Given the description of an element on the screen output the (x, y) to click on. 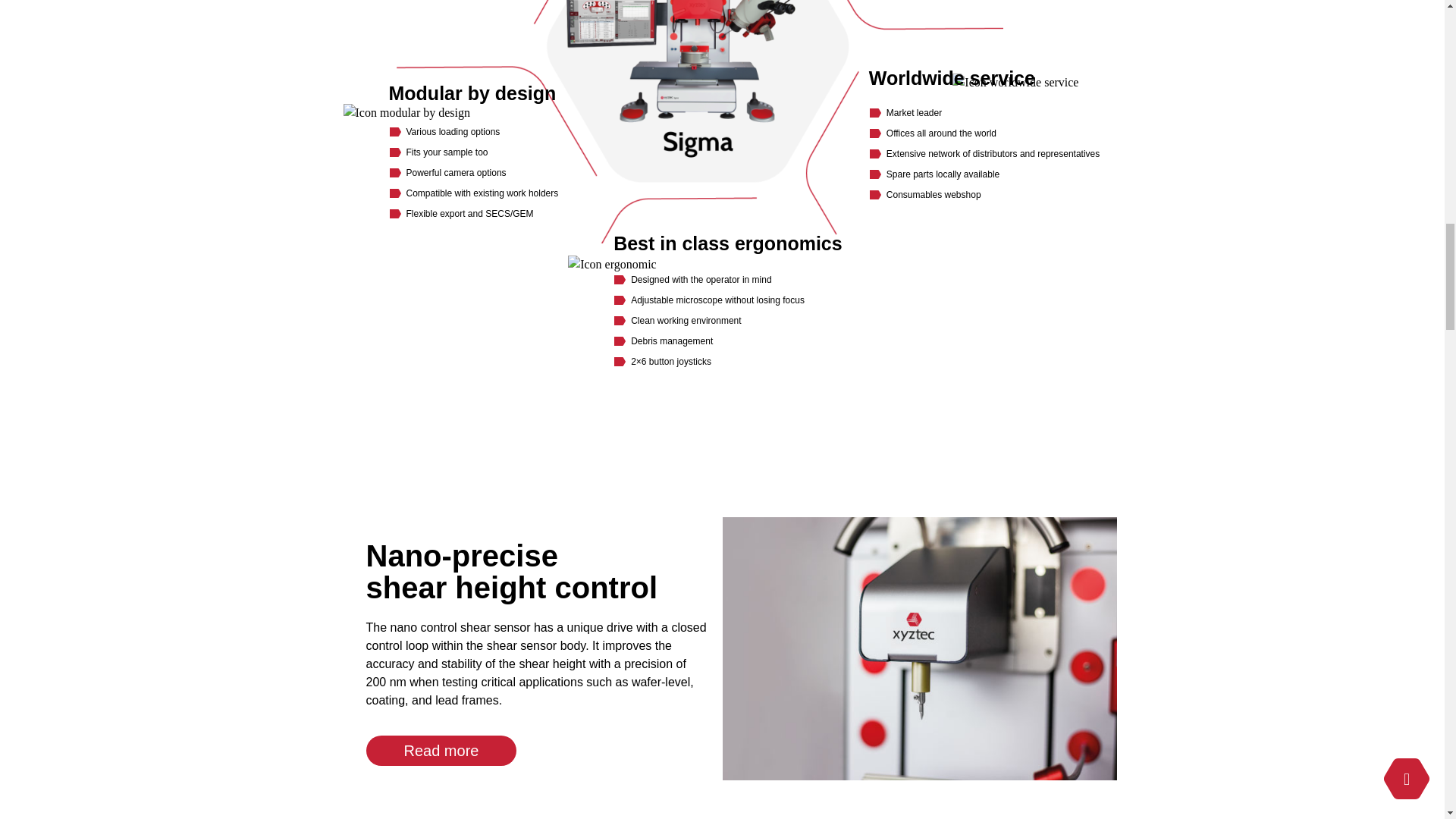
Icon ergonomic (611, 264)
Icon modular by design (406, 113)
Icon worldwide service (1015, 82)
